Given the description of an element on the screen output the (x, y) to click on. 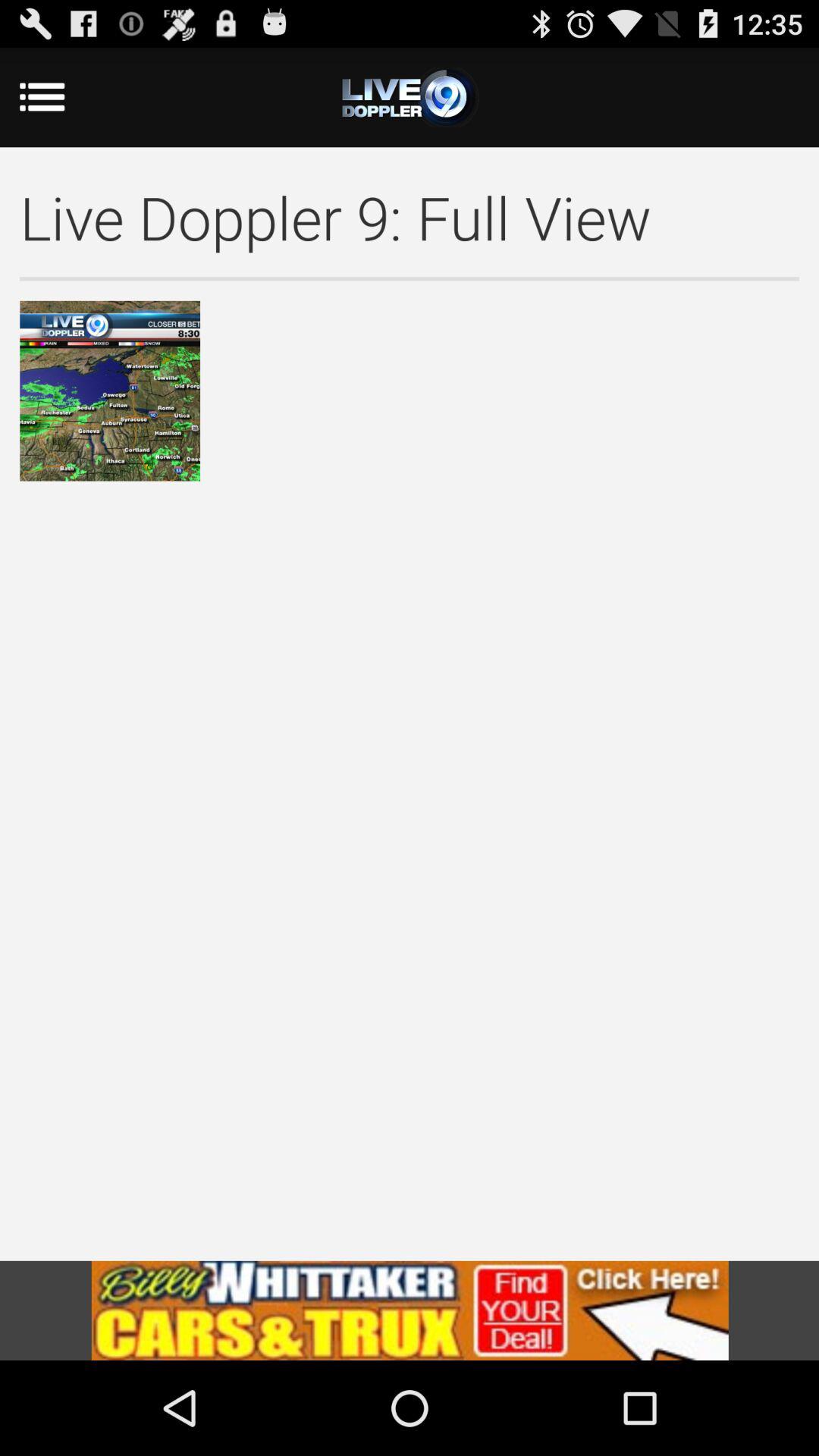
select the item above live doppler 9 item (409, 97)
